Given the description of an element on the screen output the (x, y) to click on. 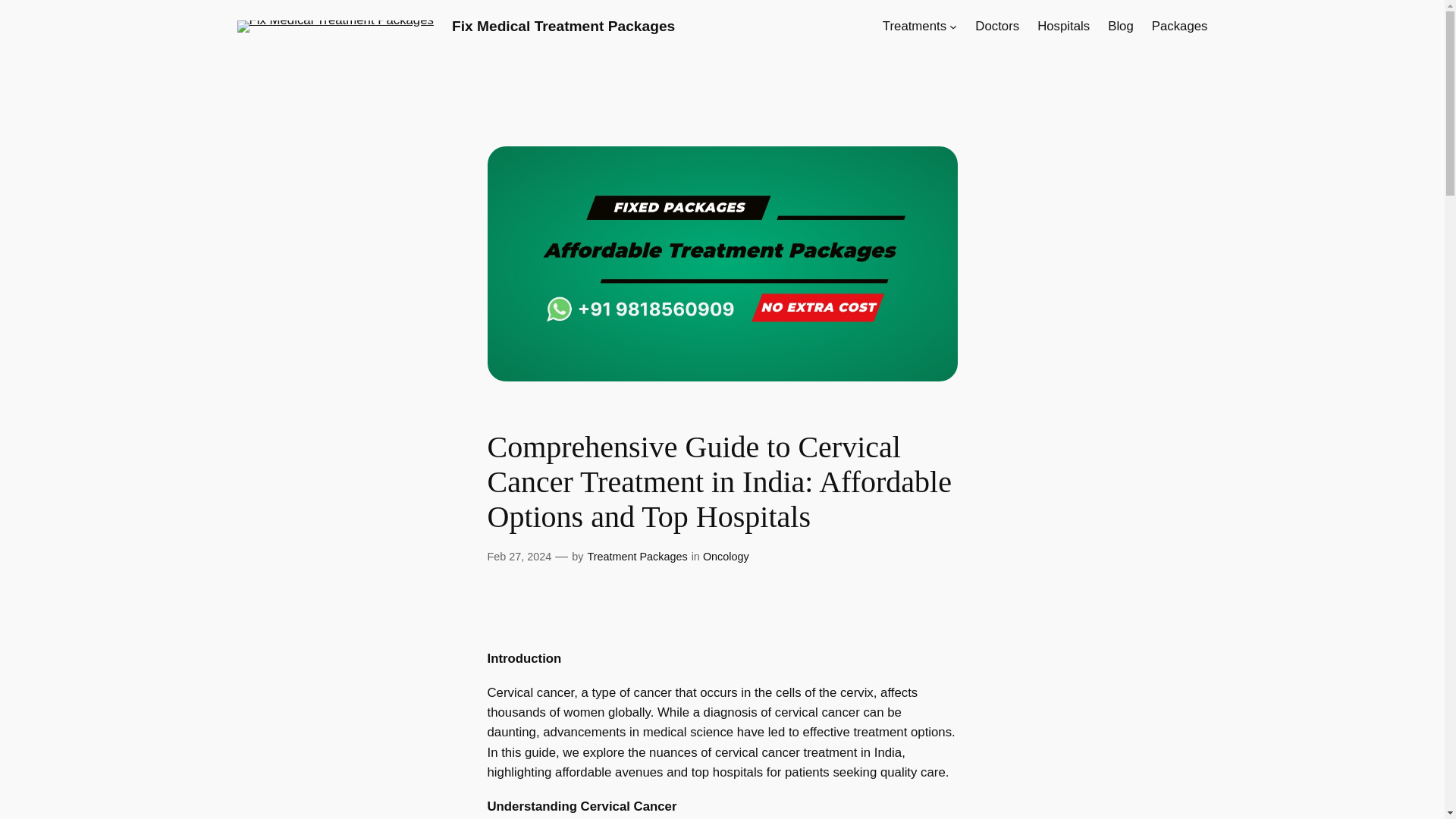
Packages (1179, 26)
Treatment Packages (636, 556)
Doctors (997, 26)
Feb 27, 2024 (518, 556)
Oncology (726, 556)
Treatments (914, 26)
Hospitals (1062, 26)
Fix Medical Treatment Packages (563, 26)
Blog (1121, 26)
